Given the description of an element on the screen output the (x, y) to click on. 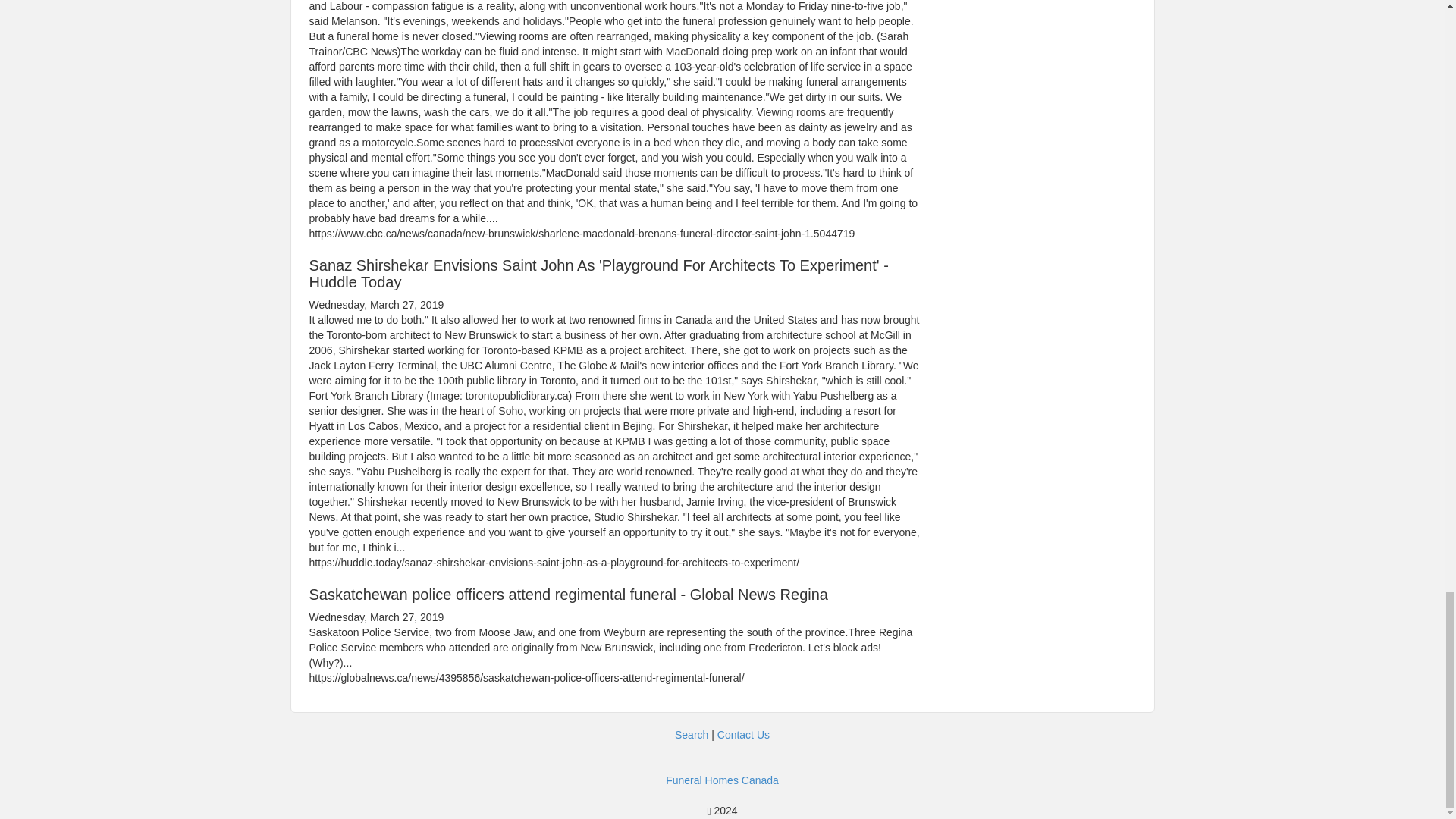
Contact Us (743, 734)
Funeral Homes Canada (721, 779)
Search (691, 734)
